Given the description of an element on the screen output the (x, y) to click on. 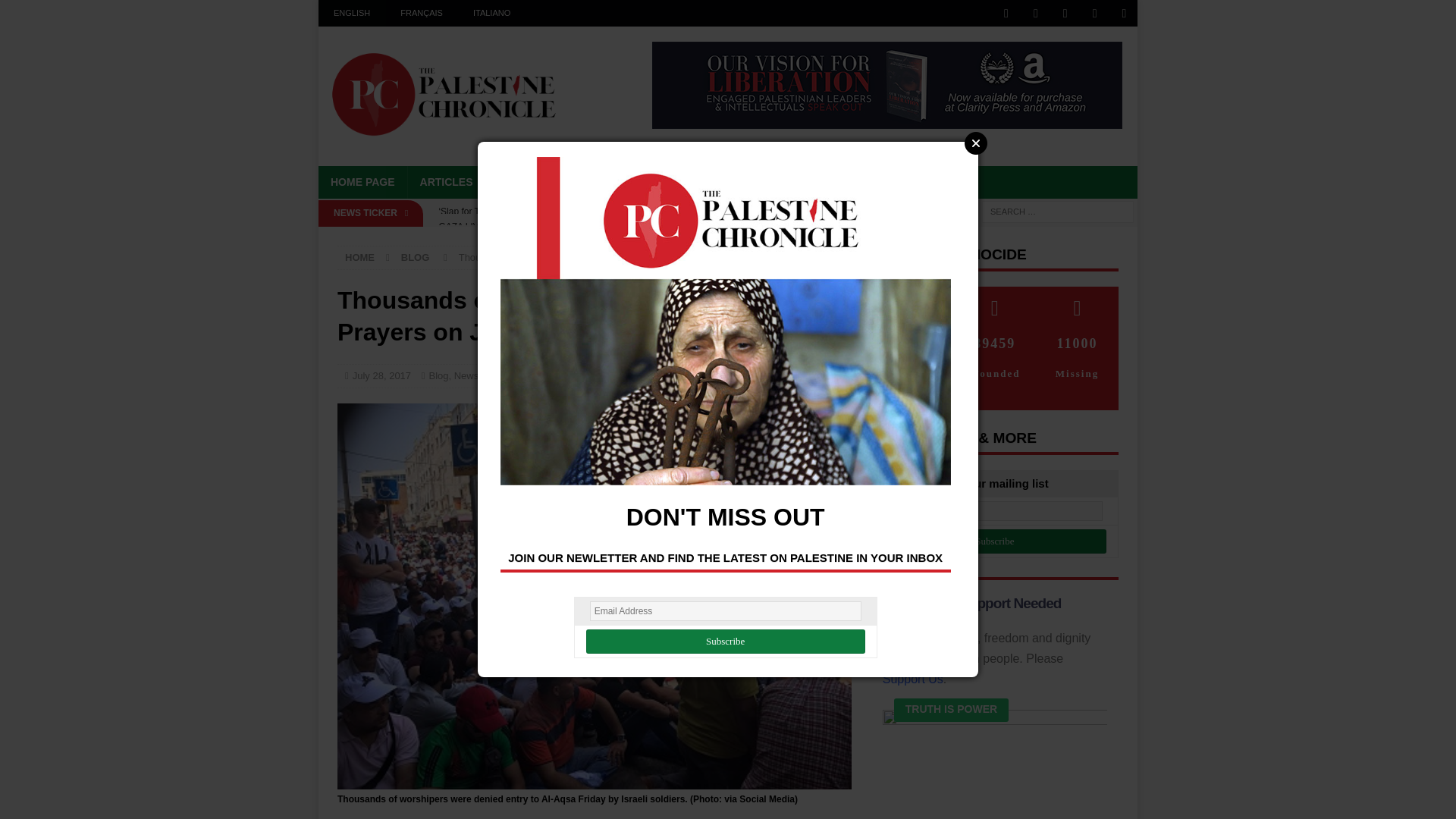
ITALIANO (491, 13)
BLOG (568, 182)
Subscribe (994, 541)
CONTACT US (940, 182)
ARTICLES (445, 182)
ENGLISH (351, 13)
REVIEWS (699, 182)
ABOUT (767, 182)
NEWS (512, 182)
SUPPORT US (846, 182)
Search (56, 11)
Subscribe (725, 641)
VIDEOS (629, 182)
